Given the description of an element on the screen output the (x, y) to click on. 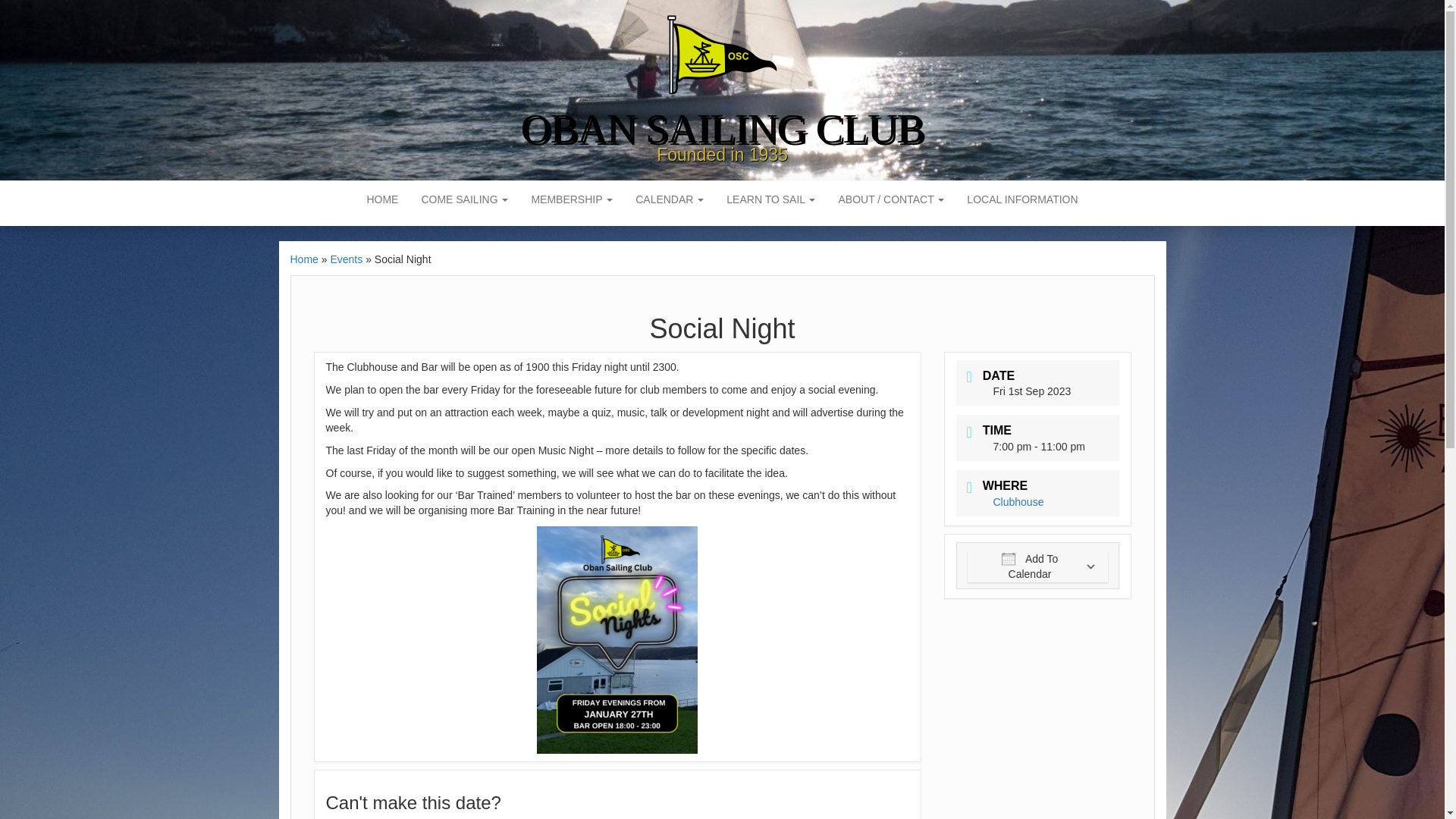
HOME (382, 199)
Home (382, 199)
MEMBERSHIP (571, 199)
COME SAILING (464, 199)
Calendar (669, 199)
OBAN SAILING CLUB (722, 128)
LEARN TO SAIL (770, 199)
CALENDAR (669, 199)
Come Sailing (464, 199)
Membership (571, 199)
